Given the description of an element on the screen output the (x, y) to click on. 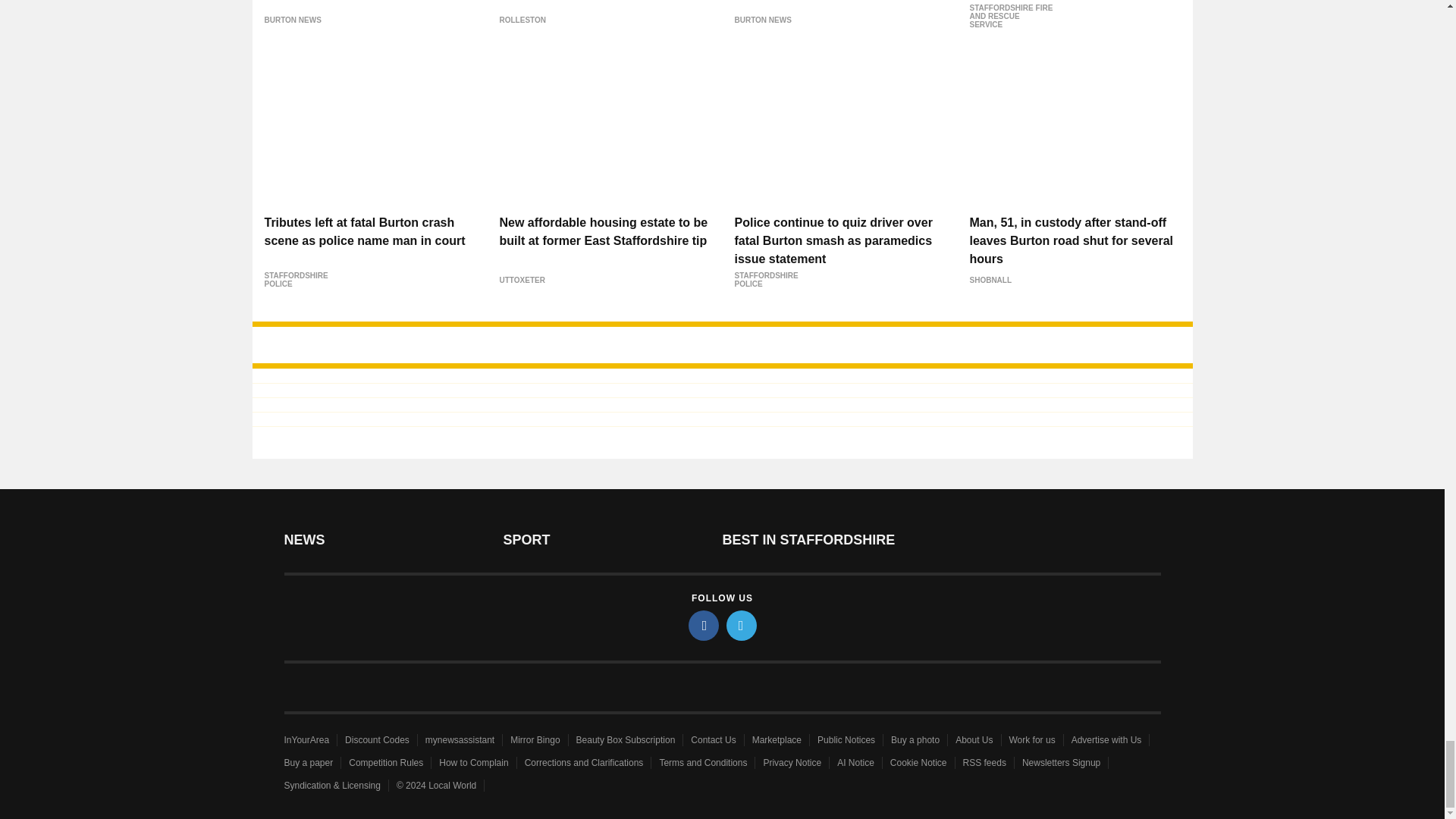
facebook (703, 625)
twitter (741, 625)
